Given the description of an element on the screen output the (x, y) to click on. 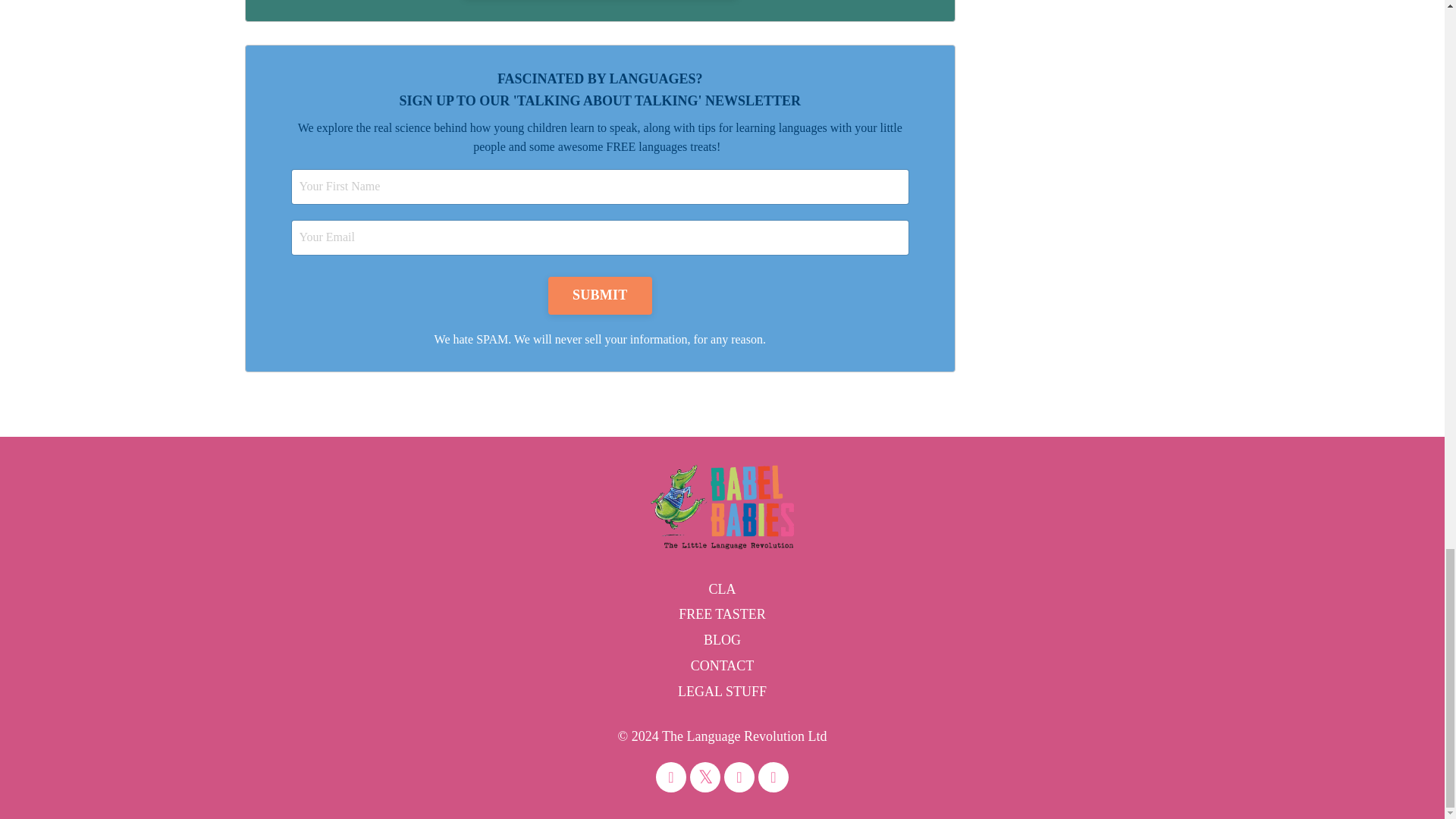
CONTACT (721, 666)
BLOG (721, 640)
FREE TASTER (721, 614)
SUBMIT (600, 295)
SUBMIT (600, 295)
CLA (721, 589)
